Given the description of an element on the screen output the (x, y) to click on. 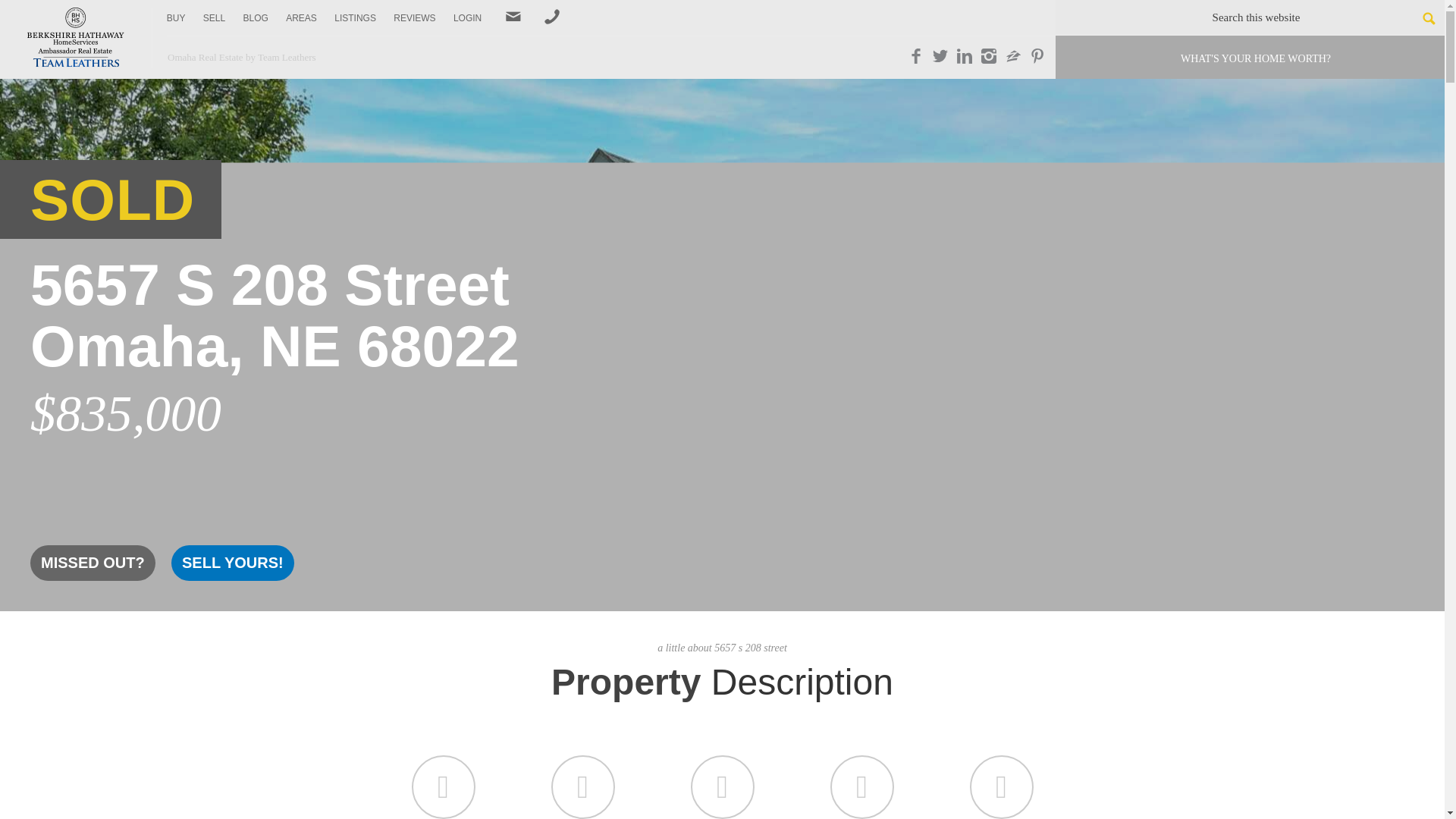
Search (1421, 17)
REVIEWS (413, 17)
Search (1421, 17)
The Blog (254, 17)
AREAS (301, 17)
SELL (213, 17)
Search (1421, 17)
BUY (175, 17)
BLOG (254, 17)
LISTINGS (355, 17)
